Given the description of an element on the screen output the (x, y) to click on. 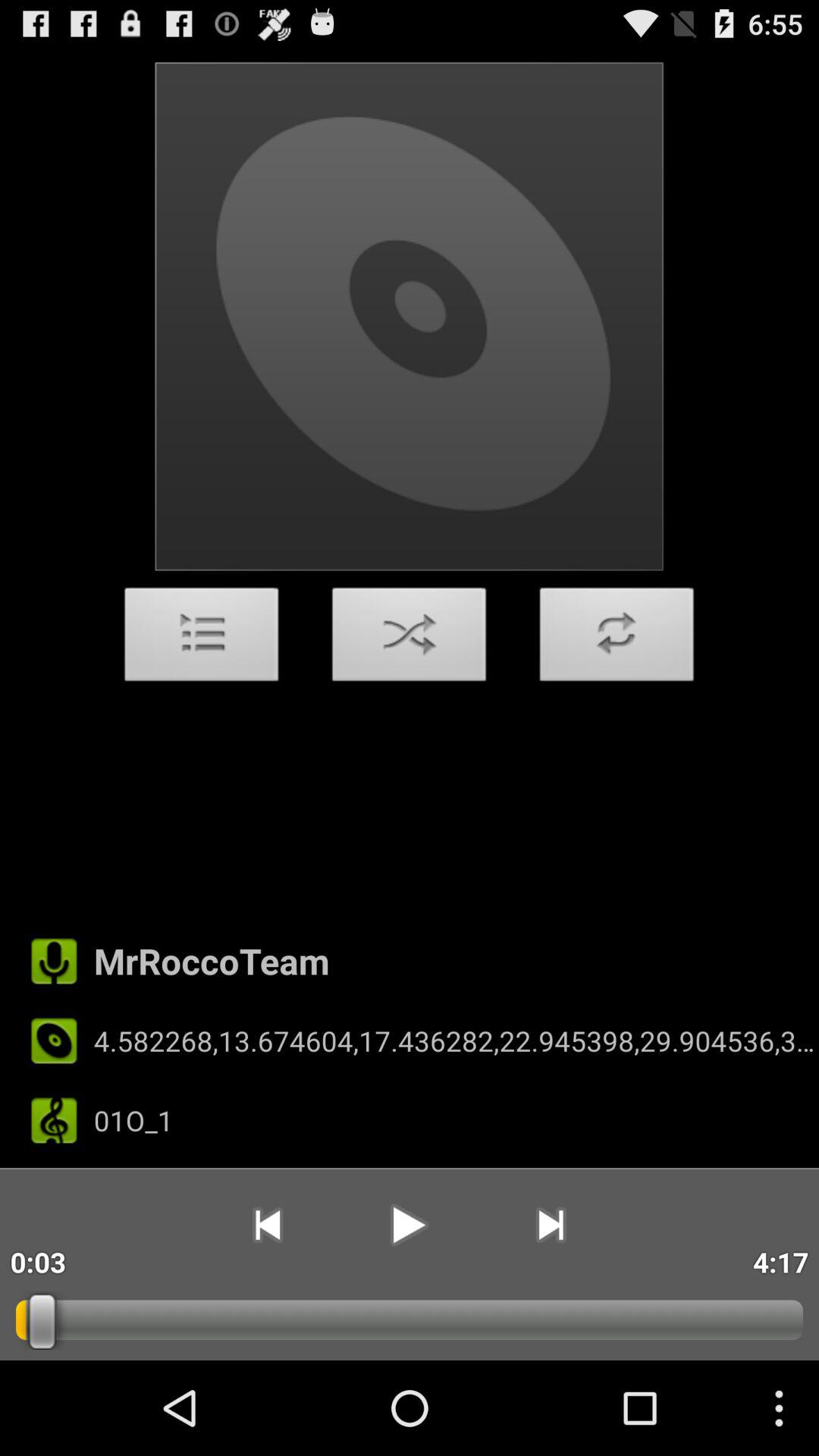
choose the item above mrroccoteam item (201, 638)
